Given the description of an element on the screen output the (x, y) to click on. 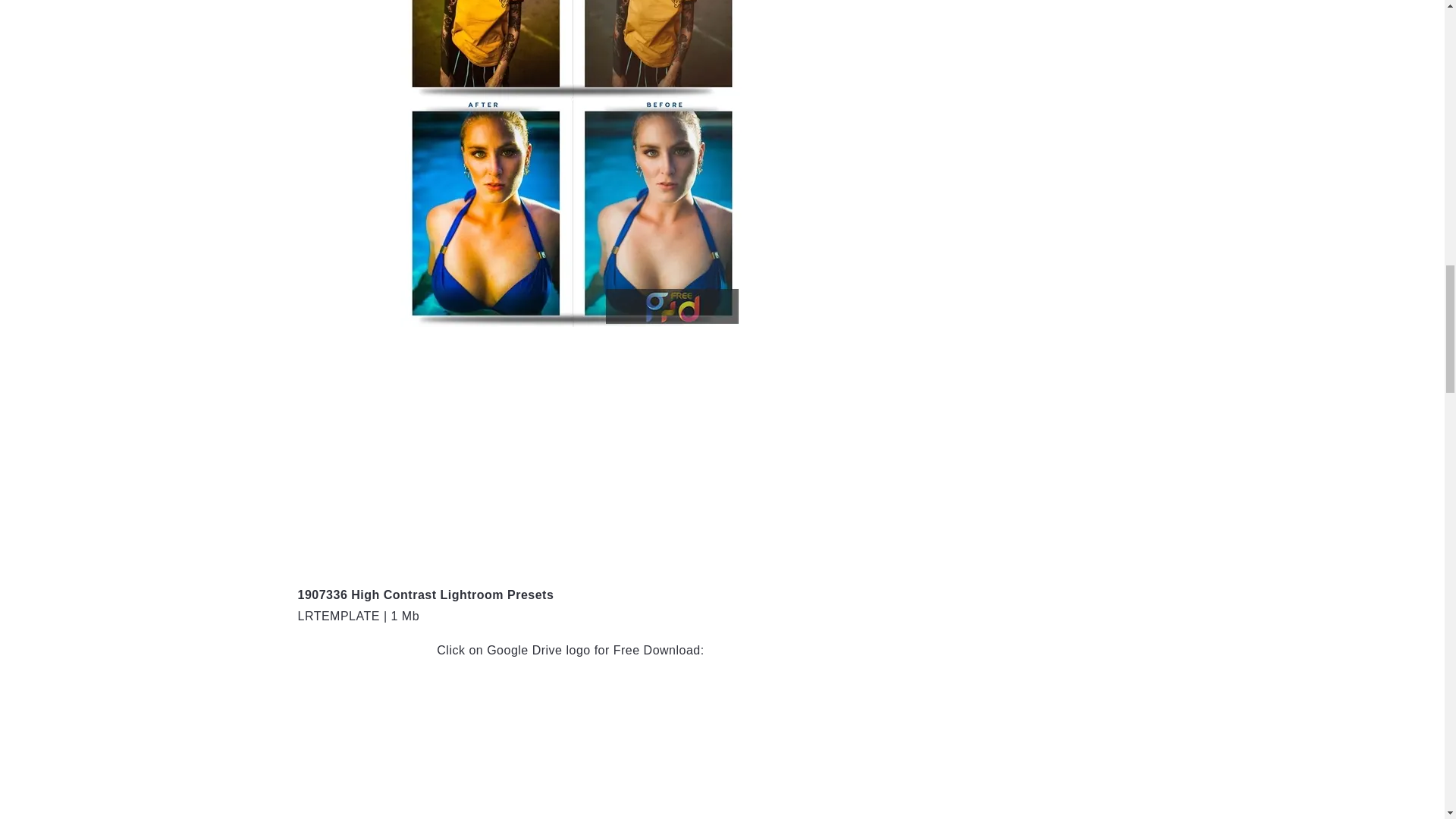
High Contrast Lightroom Presets 1 (570, 162)
